Given the description of an element on the screen output the (x, y) to click on. 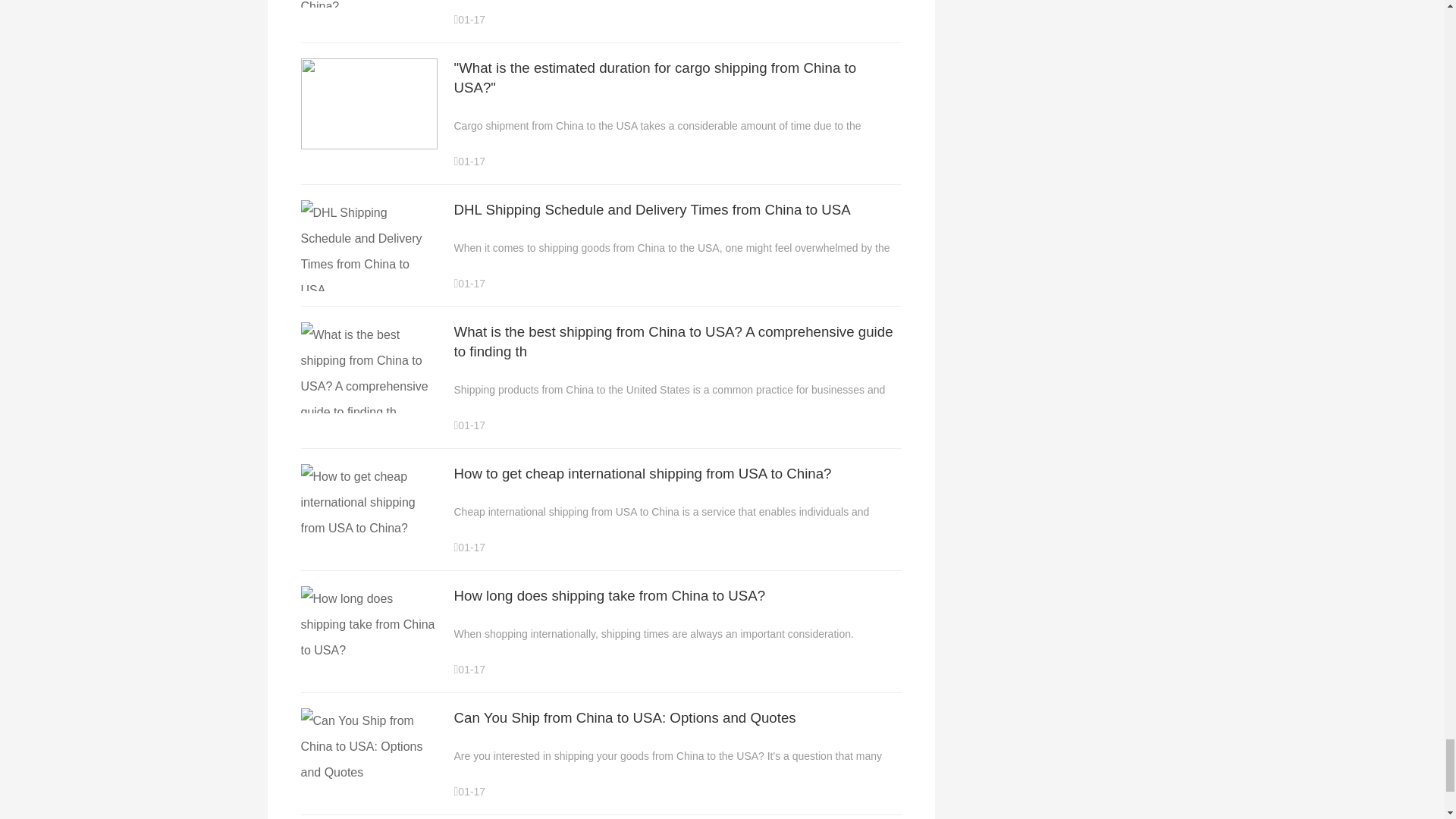
How to get cheap international shipping from USA to China? (641, 473)
Can You Ship from China to USA: Options and Quotes (623, 717)
DHL Shipping Schedule and Delivery Times from China to USA (367, 251)
How long does shipping take from China to USA? (608, 595)
DHL Shipping Schedule and Delivery Times from China to USA (367, 289)
DHL Shipping Schedule and Delivery Times from China to USA (651, 209)
How to get cheap international shipping from USA to China? (367, 527)
